Given the description of an element on the screen output the (x, y) to click on. 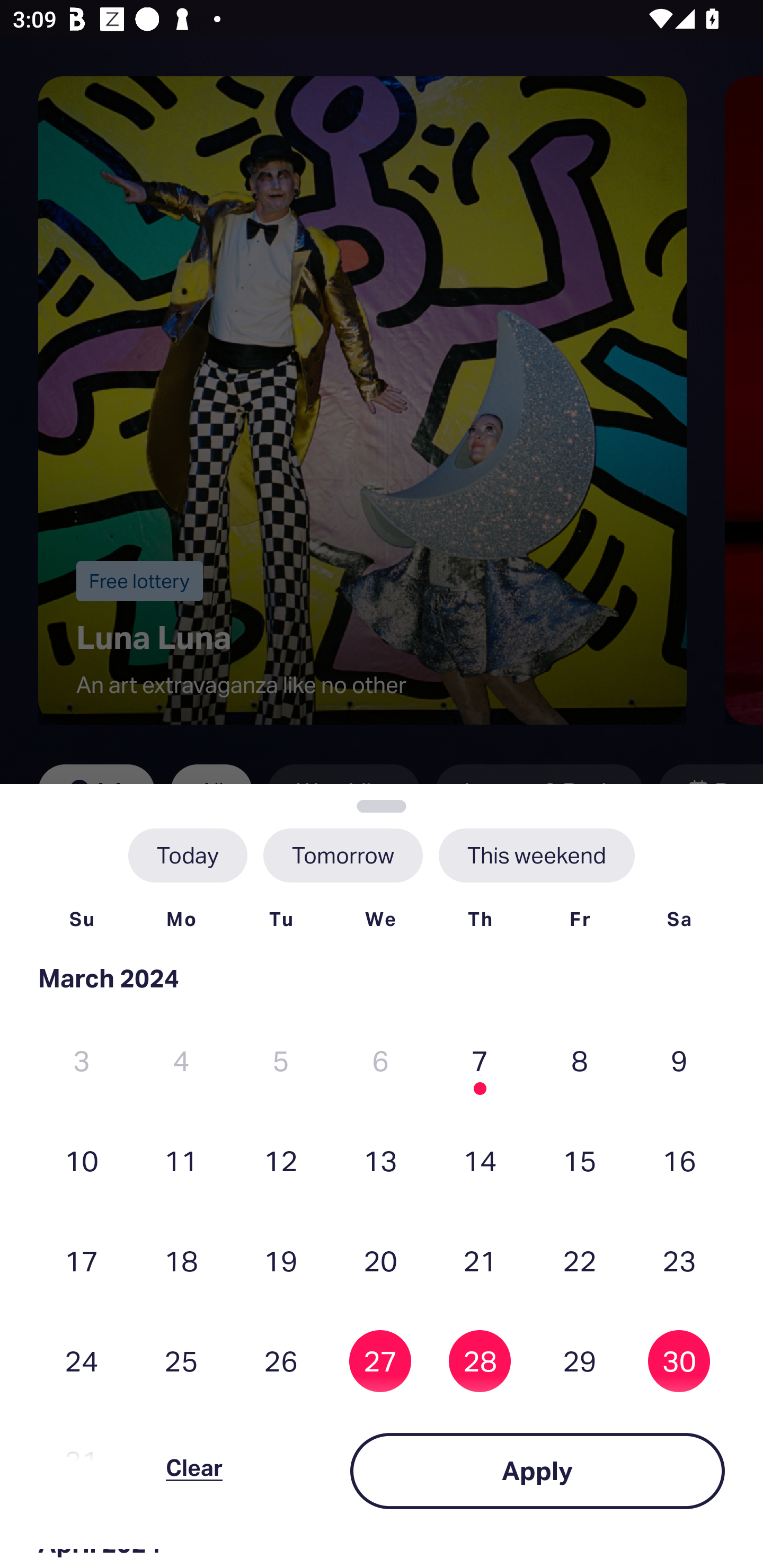
Today (187, 854)
Tomorrow (342, 854)
This weekend (536, 854)
3 (81, 1060)
4 (181, 1060)
5 (280, 1060)
6 (380, 1060)
7 (479, 1060)
8 (579, 1060)
9 (678, 1060)
10 (81, 1160)
11 (181, 1160)
12 (280, 1160)
13 (380, 1160)
14 (479, 1160)
15 (579, 1160)
16 (678, 1160)
17 (81, 1260)
18 (181, 1260)
19 (280, 1260)
20 (380, 1260)
21 (479, 1260)
22 (579, 1260)
23 (678, 1260)
24 (81, 1360)
25 (181, 1360)
26 (280, 1360)
27 (380, 1360)
28 (479, 1360)
29 (579, 1360)
30 (678, 1360)
Clear (194, 1470)
Apply (537, 1470)
